Given the description of an element on the screen output the (x, y) to click on. 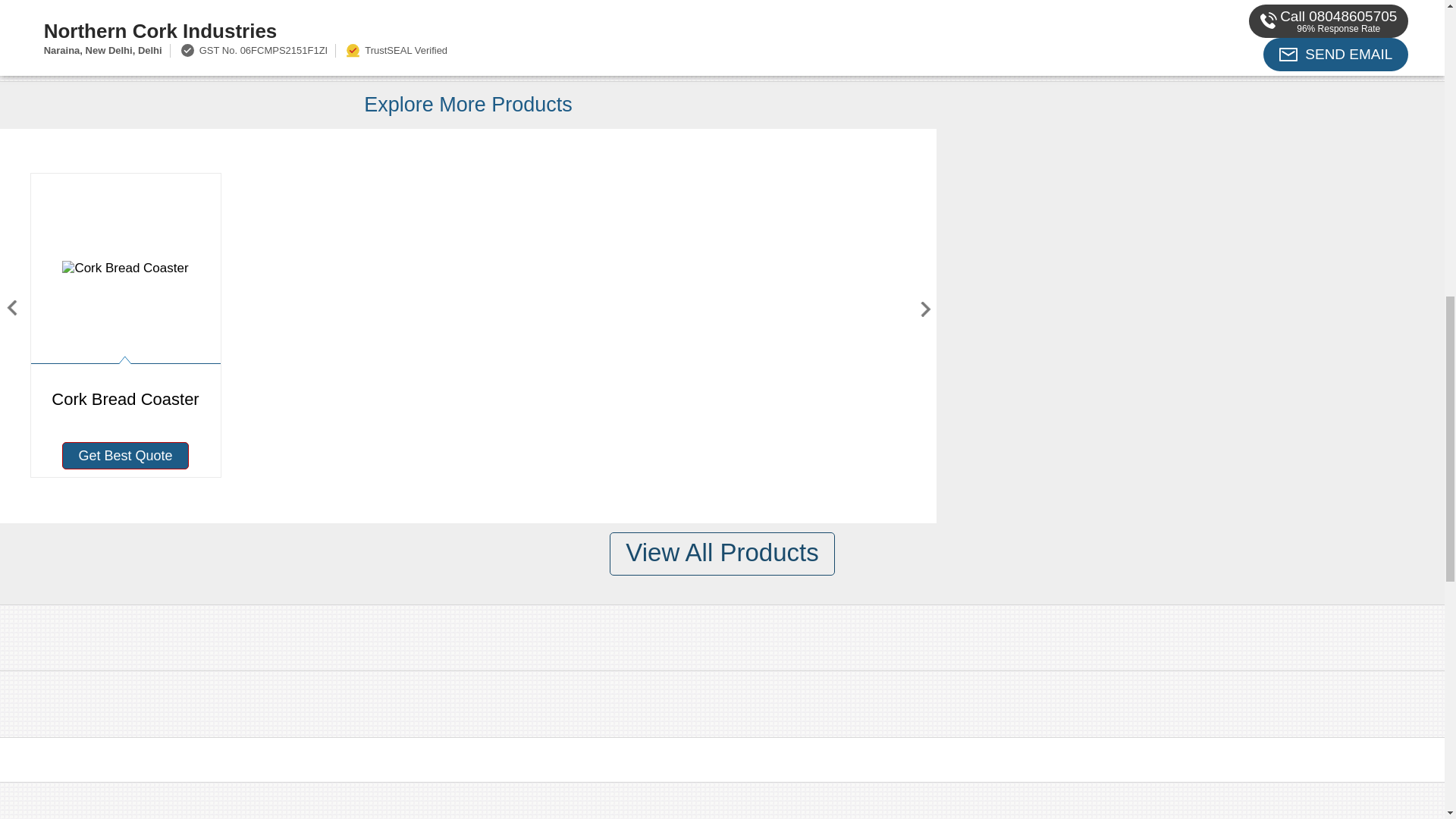
View All Products (722, 553)
